Given the description of an element on the screen output the (x, y) to click on. 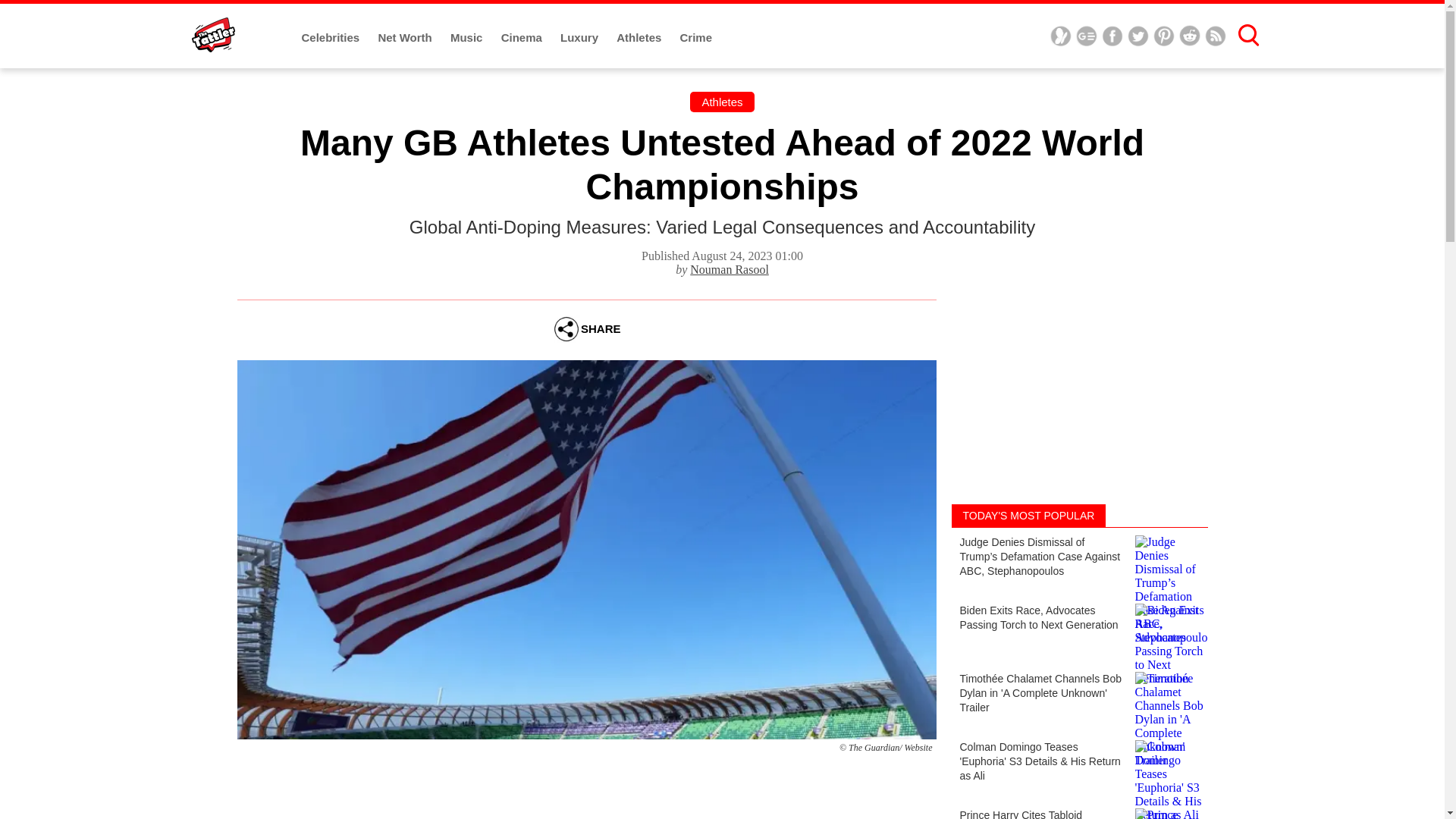
Crime (696, 37)
Athletes (639, 37)
Net Worth (406, 37)
Athletes (721, 101)
Cinema (522, 37)
Music (467, 37)
Biden Exits Race, Advocates Passing Torch to Next Generation (1078, 629)
Celebrities (331, 37)
Nouman Rasool (729, 269)
Luxury (580, 37)
